Given the description of an element on the screen output the (x, y) to click on. 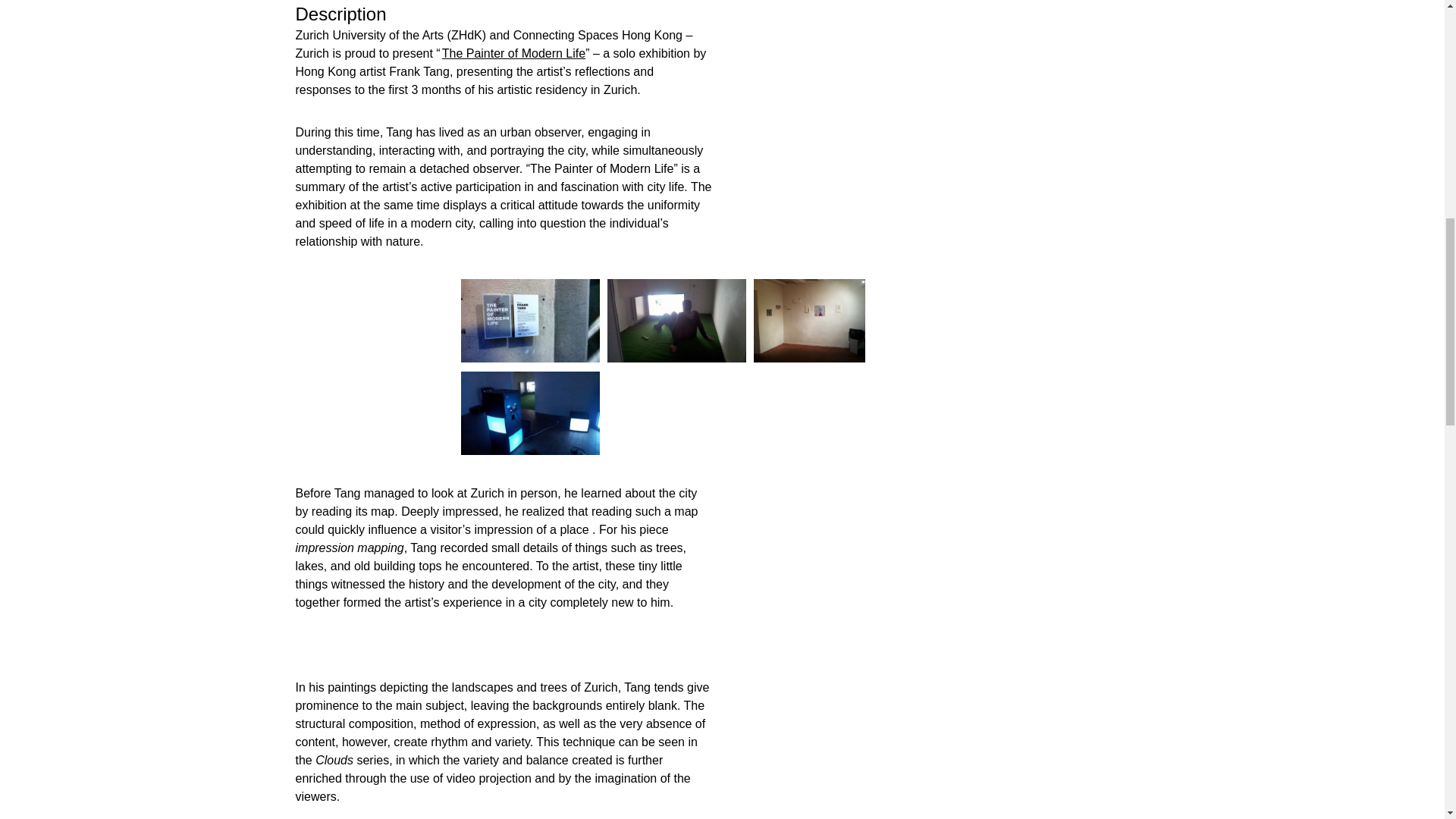
The Painter of Modern Life (513, 53)
